Given the description of an element on the screen output the (x, y) to click on. 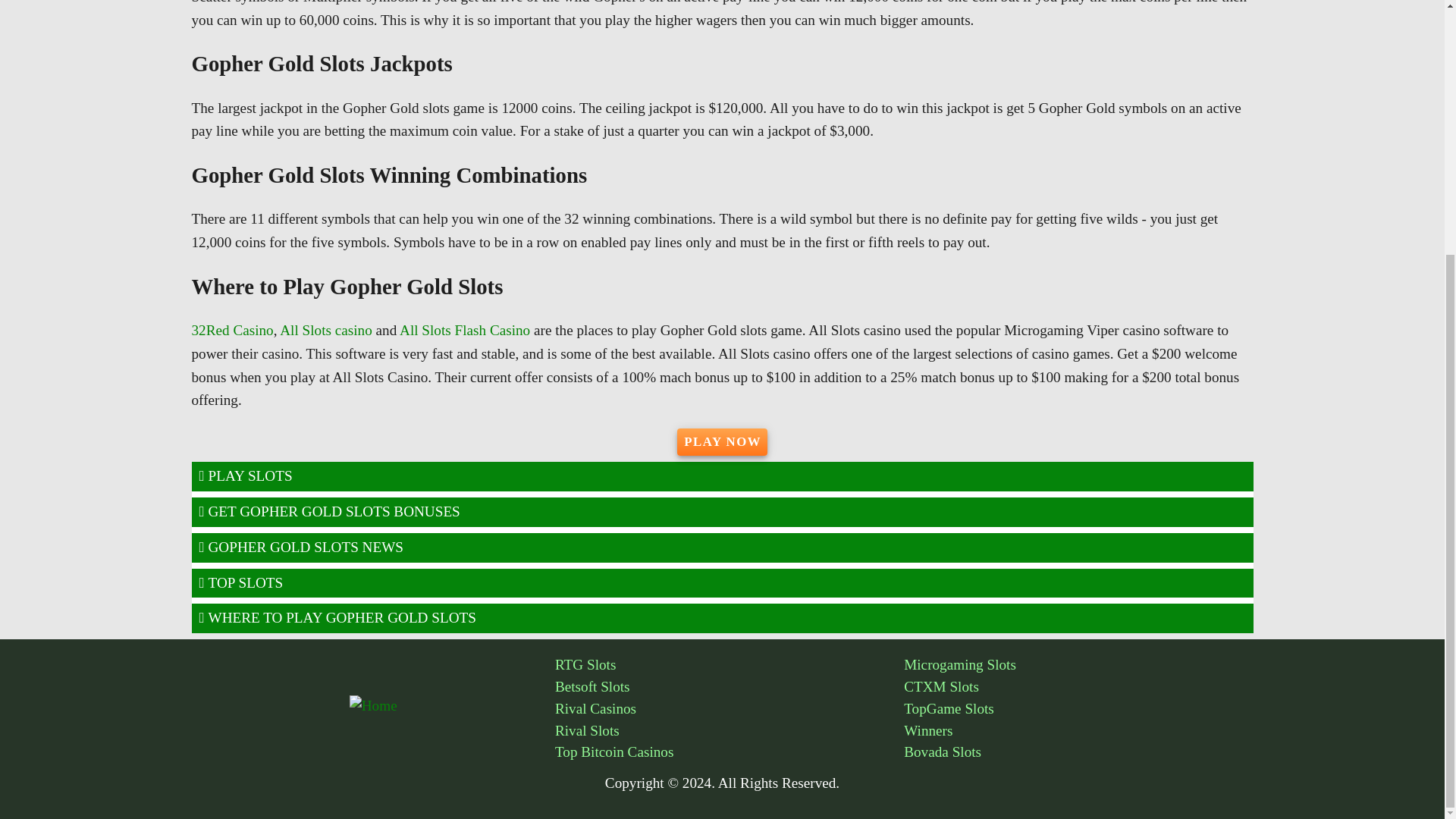
32Red Casino (231, 330)
Microgaming Slots (1078, 665)
Rival Casinos (729, 709)
Winners (1078, 731)
All Slots casino (325, 330)
RTG Slots (729, 665)
Betsoft Slots (729, 687)
PLAY NOW (722, 441)
Bovada Slots (1078, 752)
Rival Slots (729, 731)
